Given the description of an element on the screen output the (x, y) to click on. 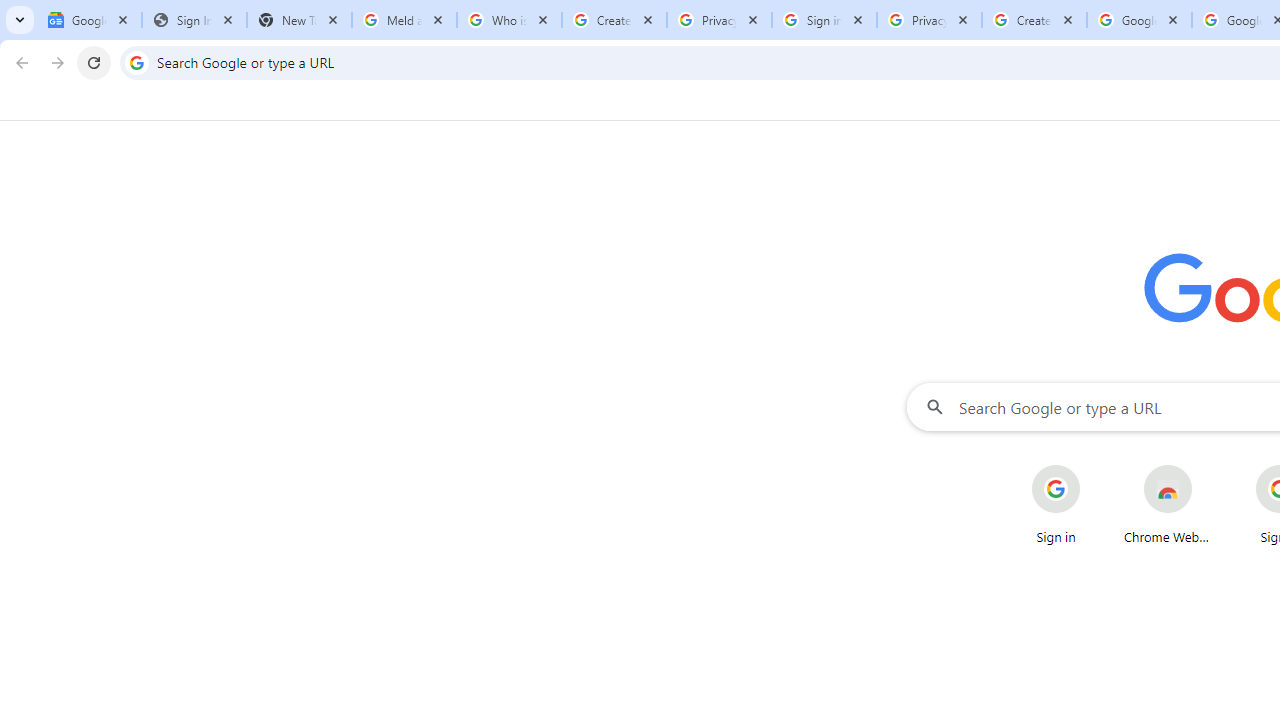
Create your Google Account (613, 20)
More actions for Sign in shortcut (1095, 466)
Chrome Web Store (1167, 504)
More actions for Chrome Web Store shortcut (1208, 466)
Sign in - Google Accounts (823, 20)
